Given the description of an element on the screen output the (x, y) to click on. 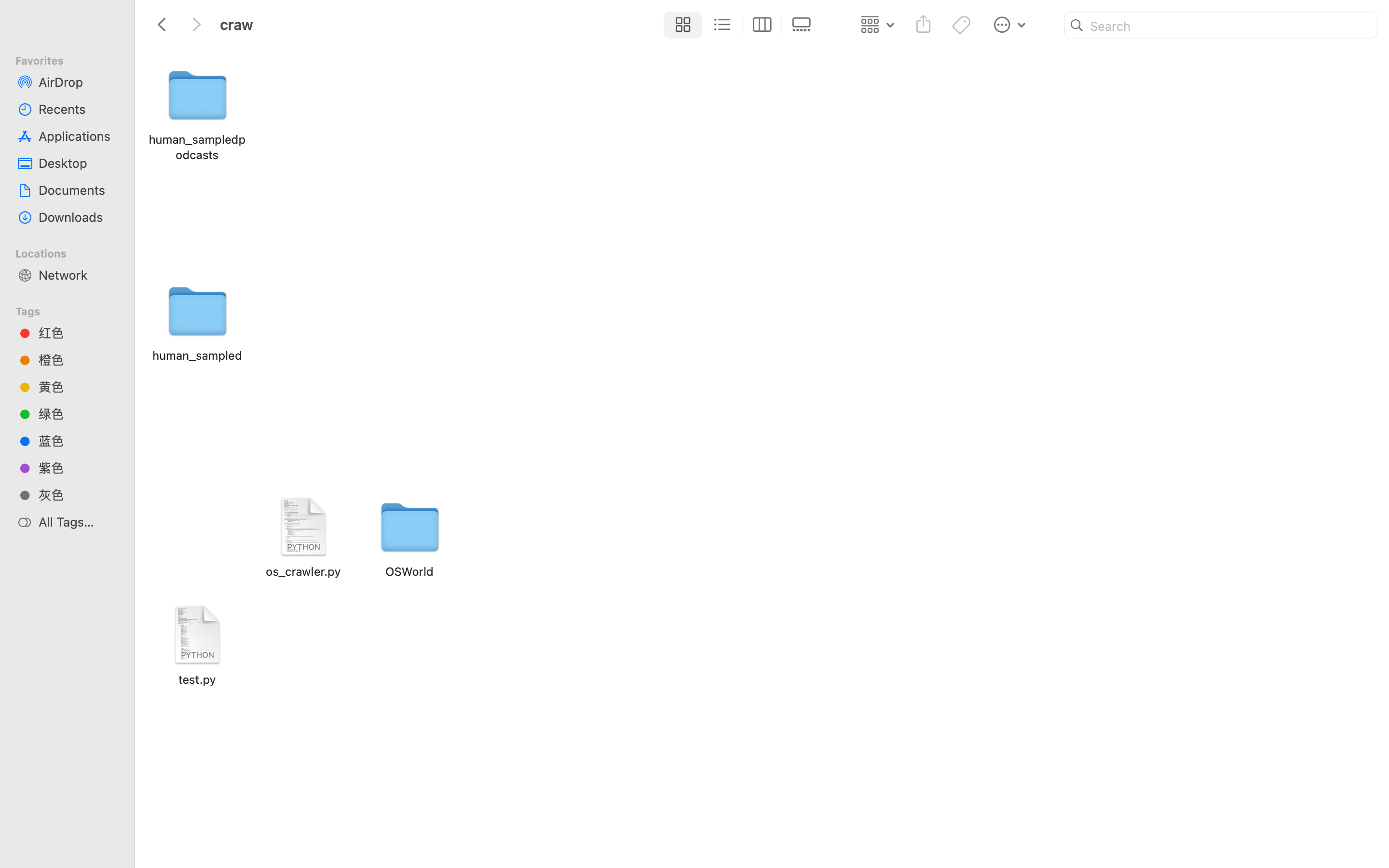
红色 Element type: AXStaticText (77, 332)
紫色 Element type: AXStaticText (77, 467)
绿色 Element type: AXStaticText (77, 413)
